Given the description of an element on the screen output the (x, y) to click on. 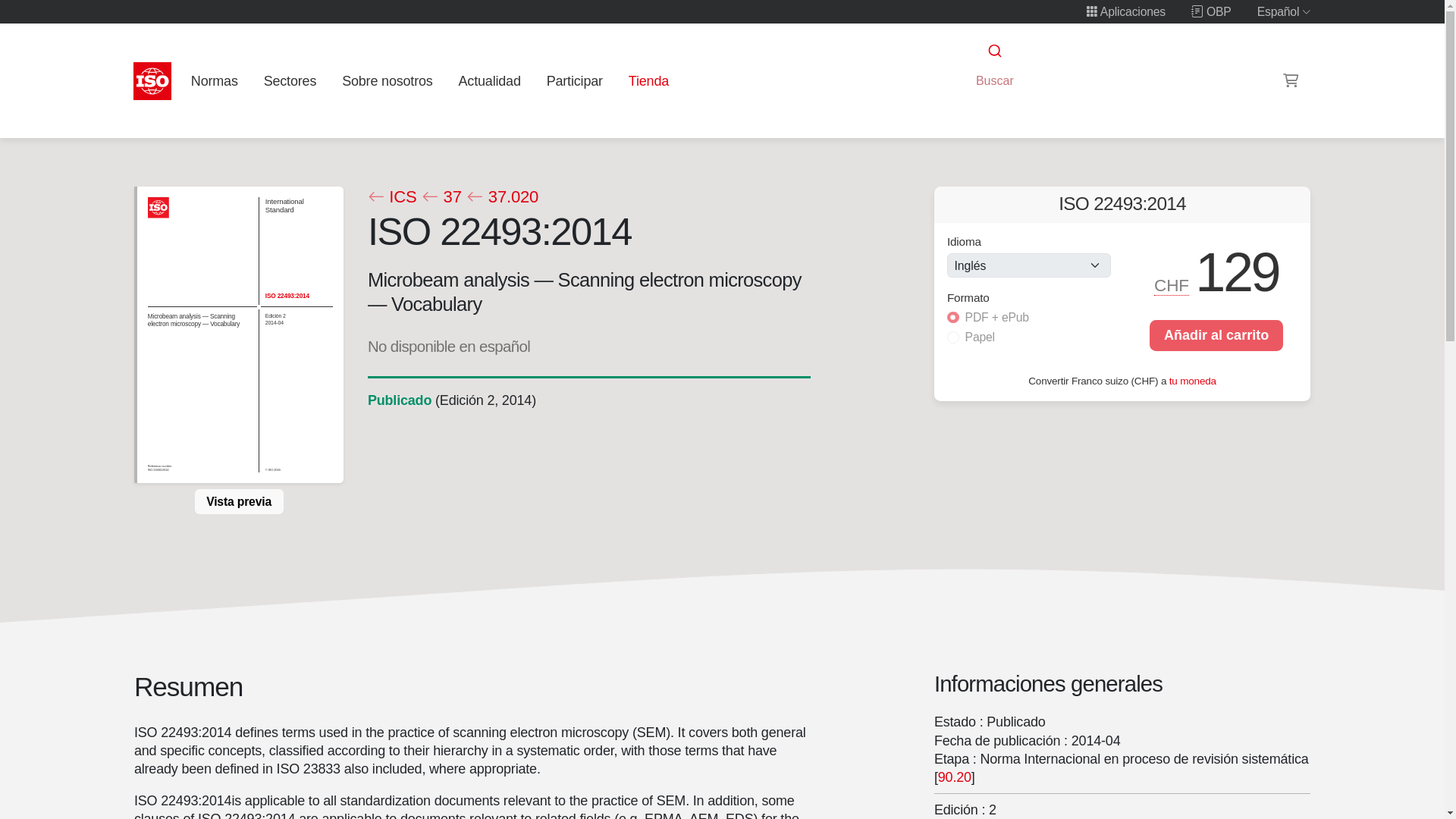
Participar (574, 80)
Submit (993, 51)
Tienda (648, 80)
Sectores (290, 80)
Actualidad (489, 80)
Normas (214, 80)
Vista previa (237, 501)
 OBP (1211, 11)
90.20 (954, 776)
Francos suizos (1171, 285)
37 (441, 197)
 Aplicaciones (1126, 11)
